Given the description of an element on the screen output the (x, y) to click on. 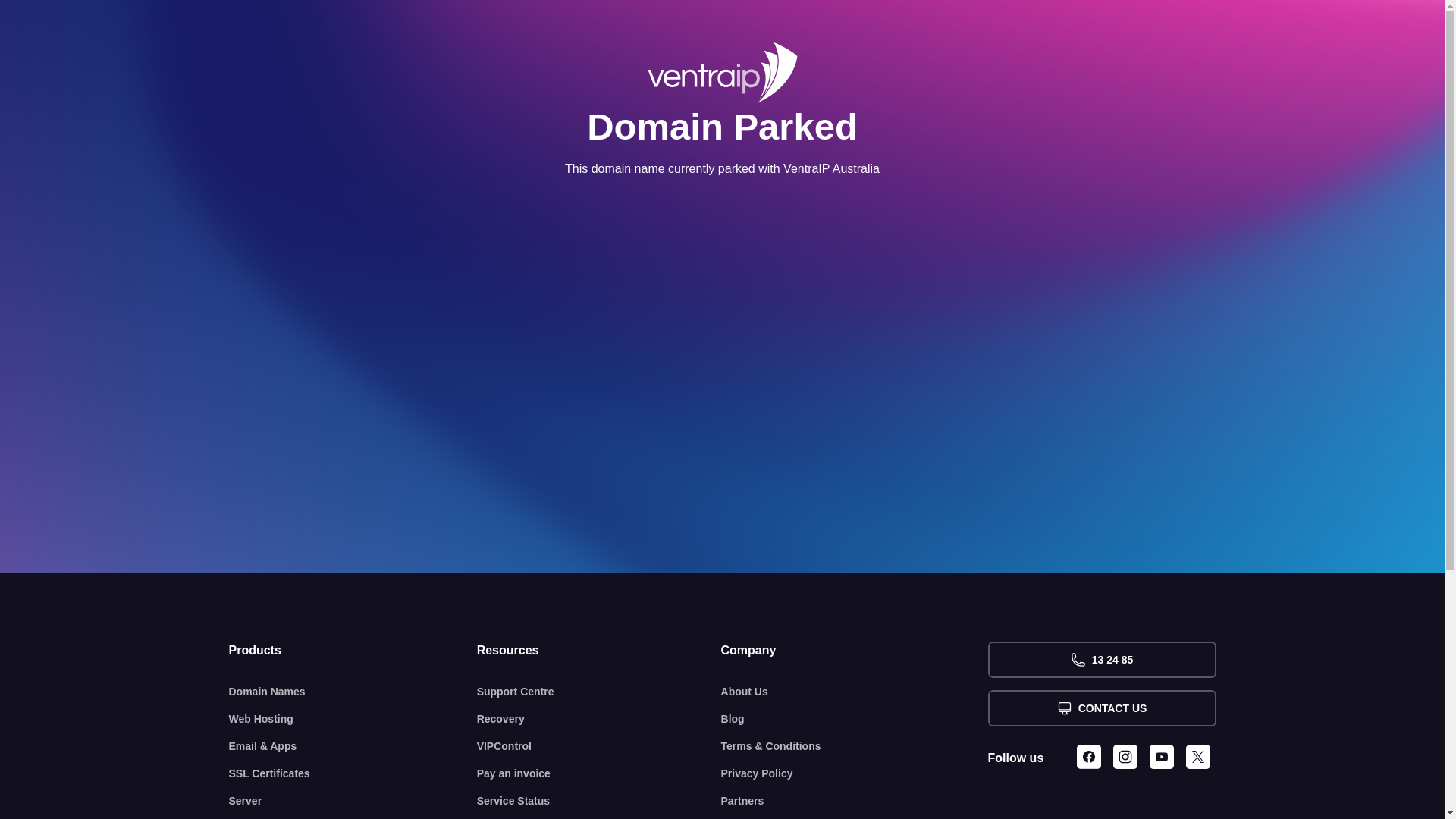
13 24 85 Element type: text (1101, 659)
Support Centre Element type: text (598, 691)
Privacy Policy Element type: text (854, 773)
Domain Names Element type: text (352, 691)
About Us Element type: text (854, 691)
Pay an invoice Element type: text (598, 773)
Email & Apps Element type: text (352, 745)
Server Element type: text (352, 800)
Web Hosting Element type: text (352, 718)
Terms & Conditions Element type: text (854, 745)
Recovery Element type: text (598, 718)
SSL Certificates Element type: text (352, 773)
Blog Element type: text (854, 718)
Partners Element type: text (854, 800)
CONTACT US Element type: text (1101, 708)
VIPControl Element type: text (598, 745)
Service Status Element type: text (598, 800)
